Given the description of an element on the screen output the (x, y) to click on. 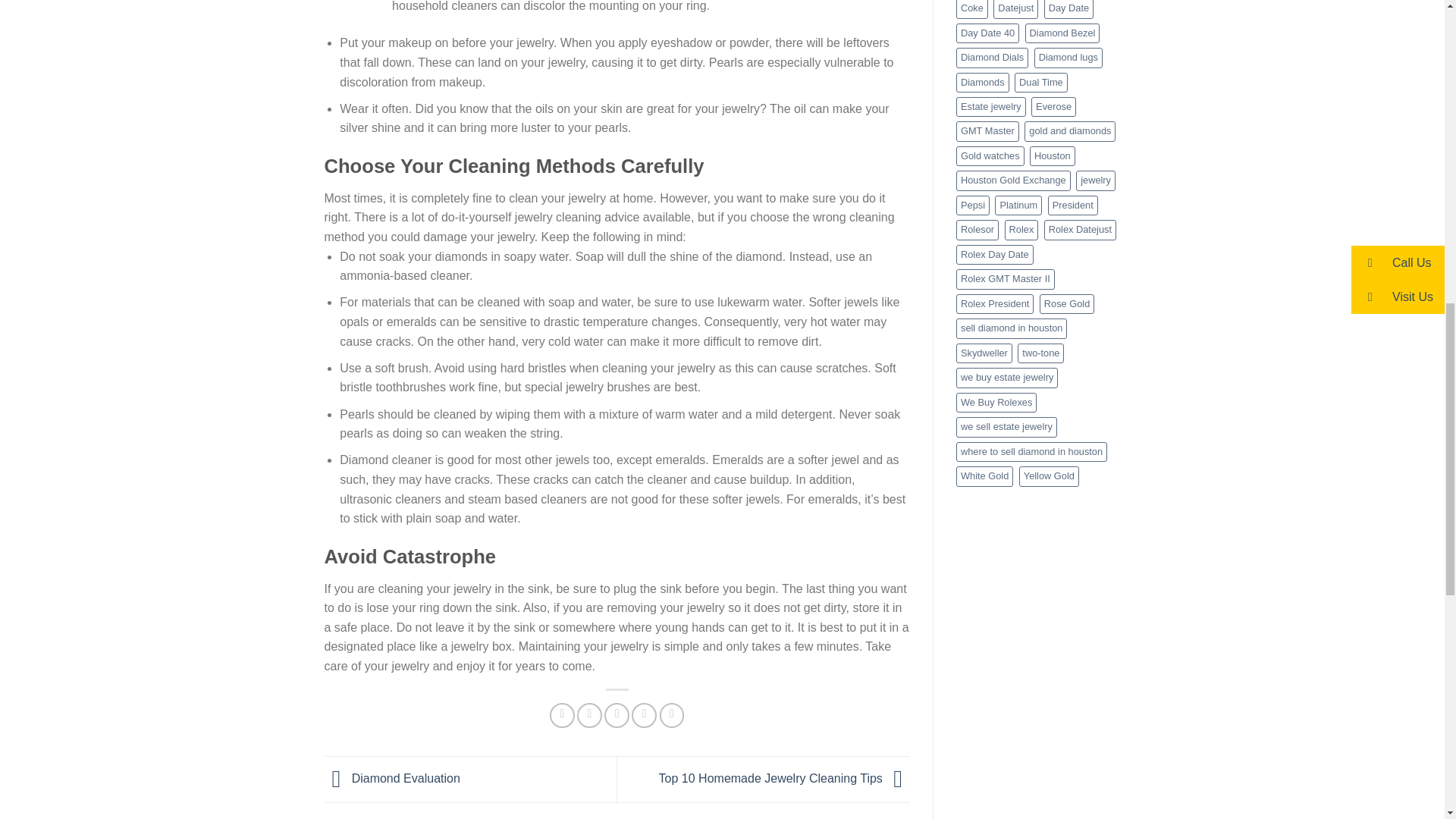
Share on LinkedIn (671, 715)
Share on Facebook (562, 715)
Email to a Friend (616, 715)
Pin on Pinterest (643, 715)
Share on Twitter (589, 715)
